Given the description of an element on the screen output the (x, y) to click on. 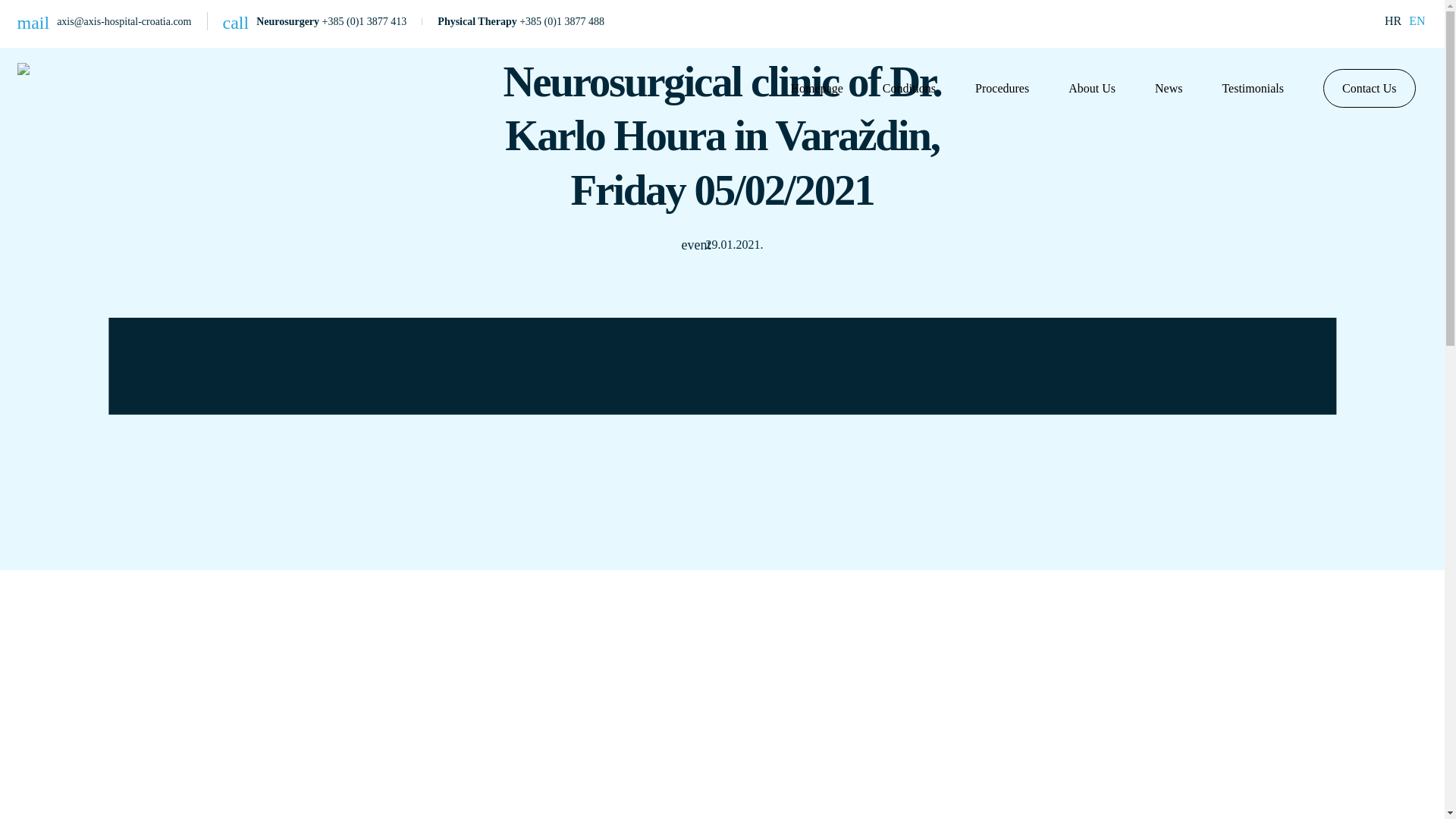
Procedures (1002, 88)
Contact Us (1369, 87)
Homepage (816, 88)
Testimonials (1252, 88)
HR (1392, 20)
News (1168, 88)
Conditions (909, 88)
About Us (1091, 88)
EN (1415, 20)
